Given the description of an element on the screen output the (x, y) to click on. 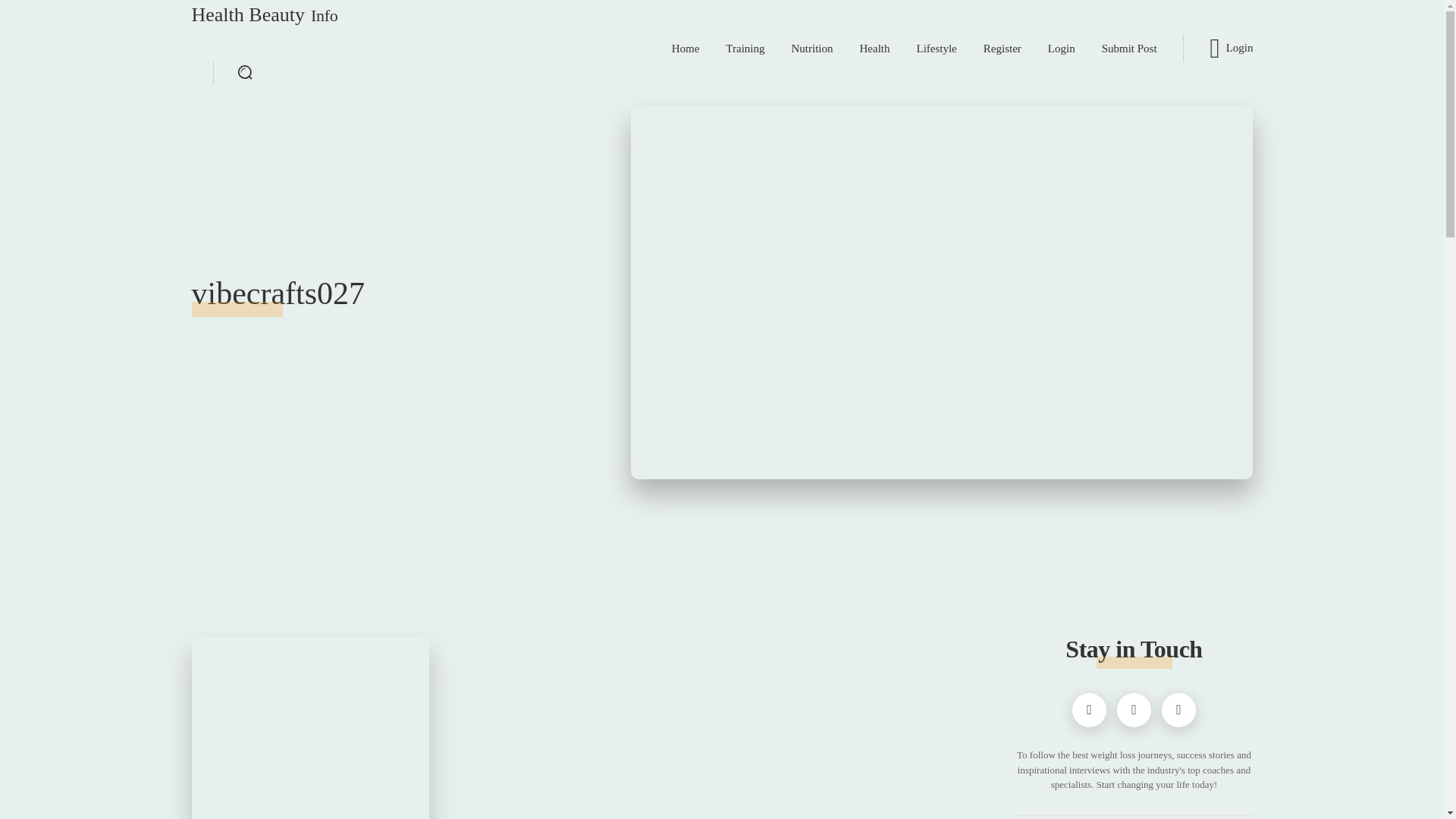
Training (745, 48)
Instagram (1133, 709)
Youtube (1178, 709)
What Are The Techniques To Position Modern Wall Mirrors? (263, 14)
Facebook (309, 728)
Home (1088, 709)
